Given the description of an element on the screen output the (x, y) to click on. 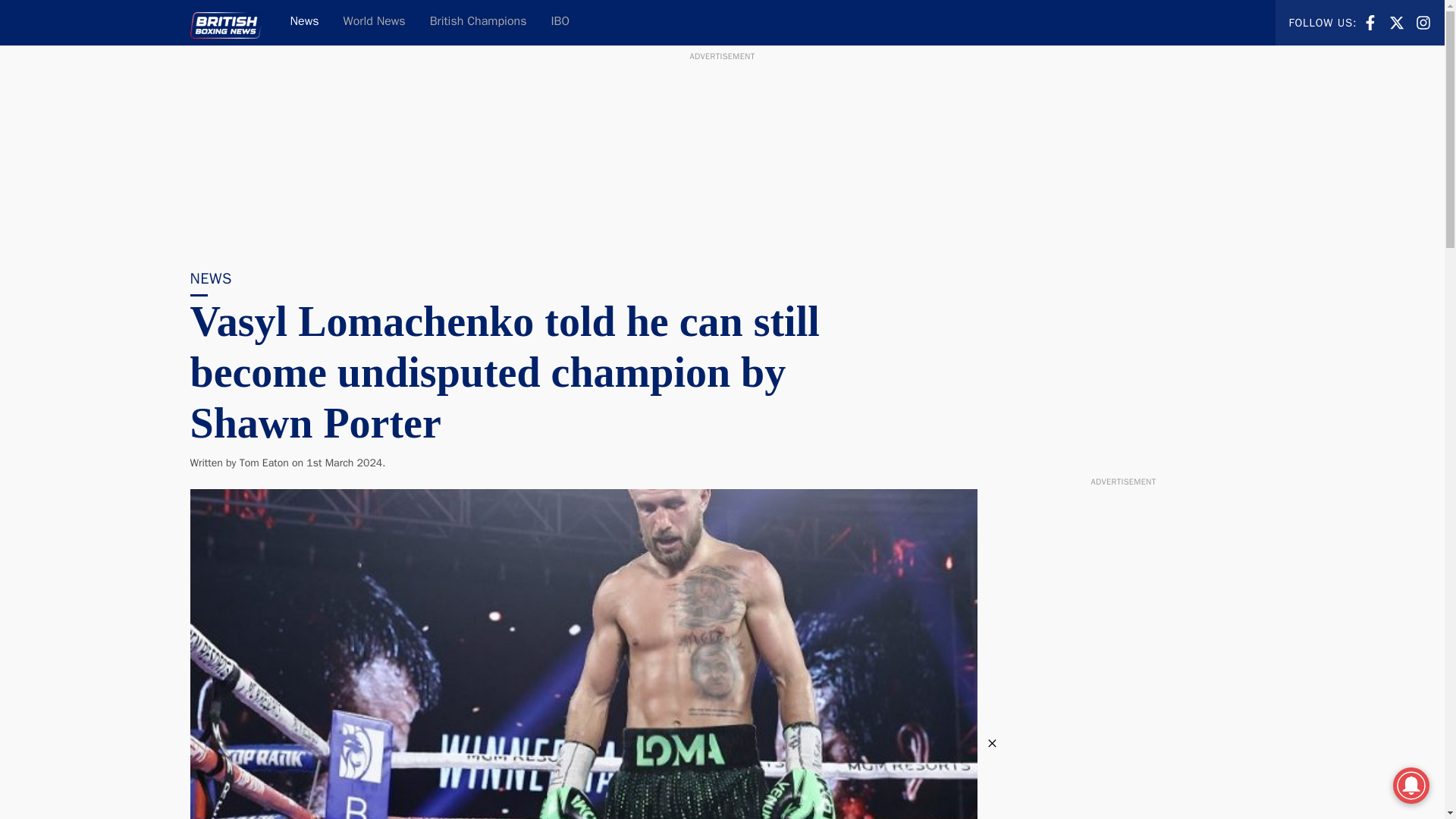
World News (1369, 21)
IBO (374, 22)
British Champions (559, 22)
News (477, 22)
X (1397, 21)
INSTAGRAM (304, 22)
FACEBOOK (1397, 22)
